Given the description of an element on the screen output the (x, y) to click on. 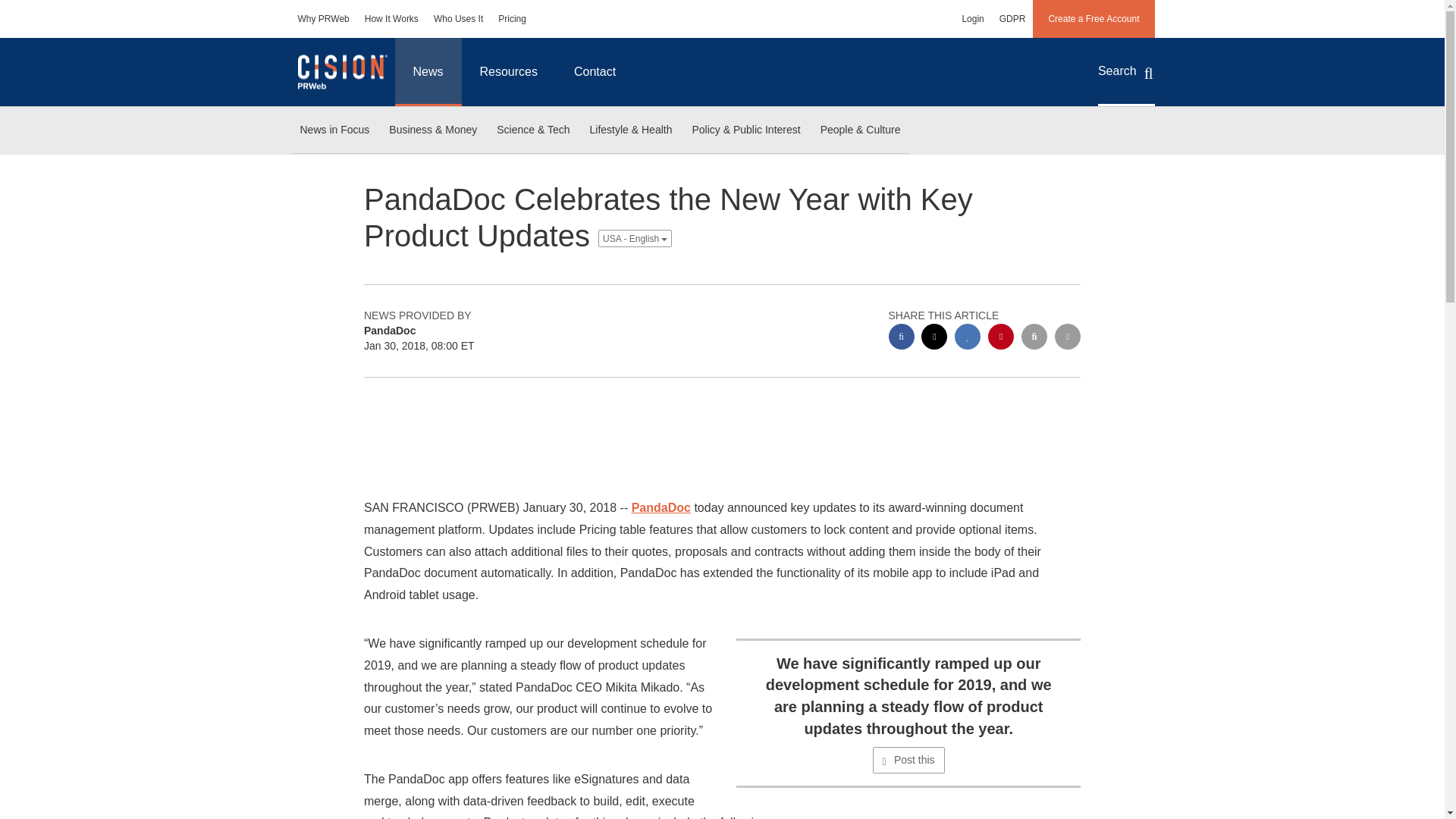
PandaDoc (660, 507)
News in Focus (333, 130)
